Given the description of an element on the screen output the (x, y) to click on. 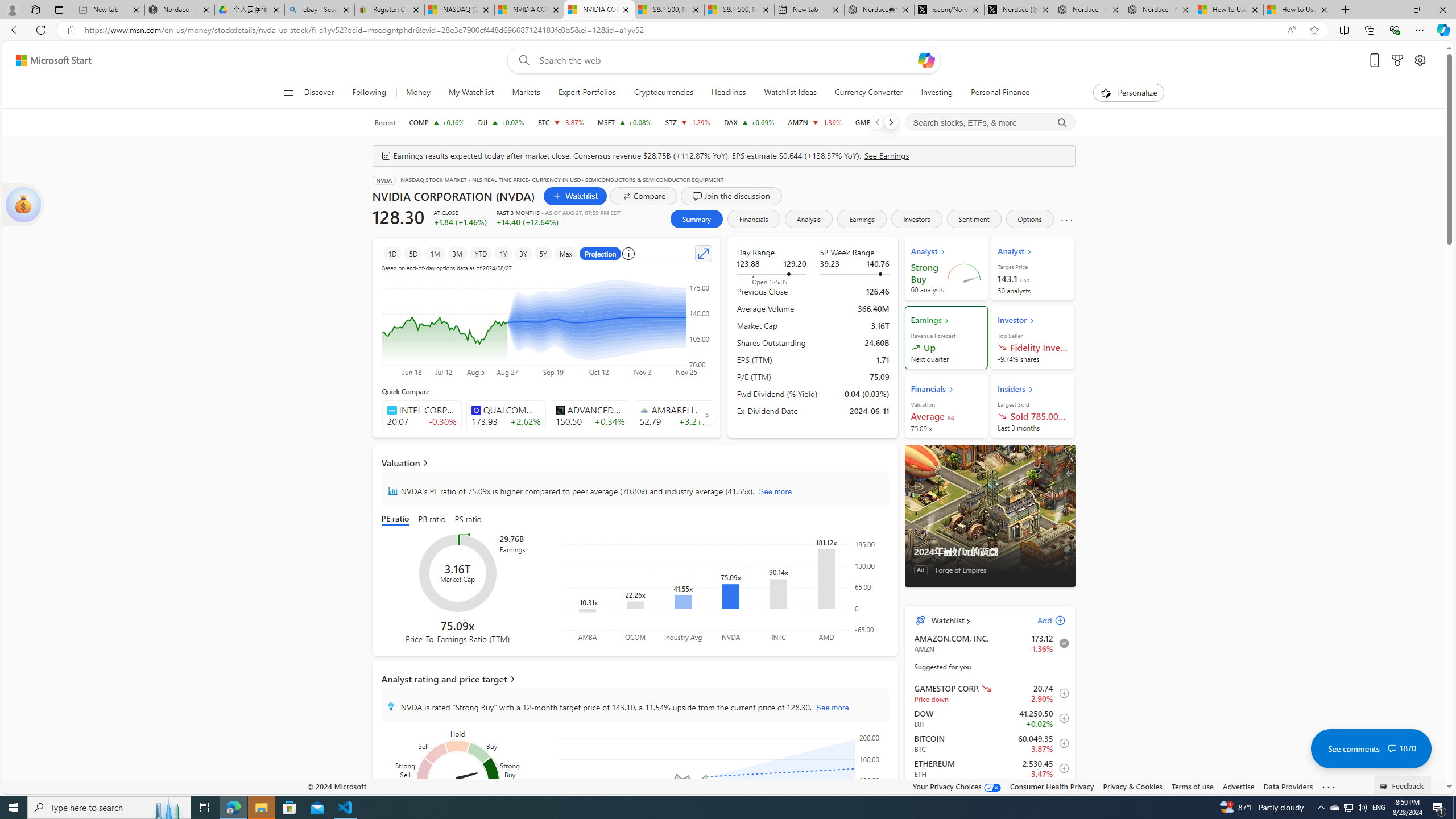
Next (890, 122)
Consumer Health Privacy (1051, 785)
Cryptocurrencies (662, 92)
BTC Bitcoin decrease 60,049.35 -2,320.91 -3.87% item2 (989, 742)
BTC Bitcoin decrease 60,049.35 -2,320.91 -3.87% (560, 122)
Class: card_head_icon_lightMode-DS-EntryPoint1-1 (1030, 388)
Options (1030, 218)
My Watchlist (471, 92)
App bar (728, 29)
